Given the description of an element on the screen output the (x, y) to click on. 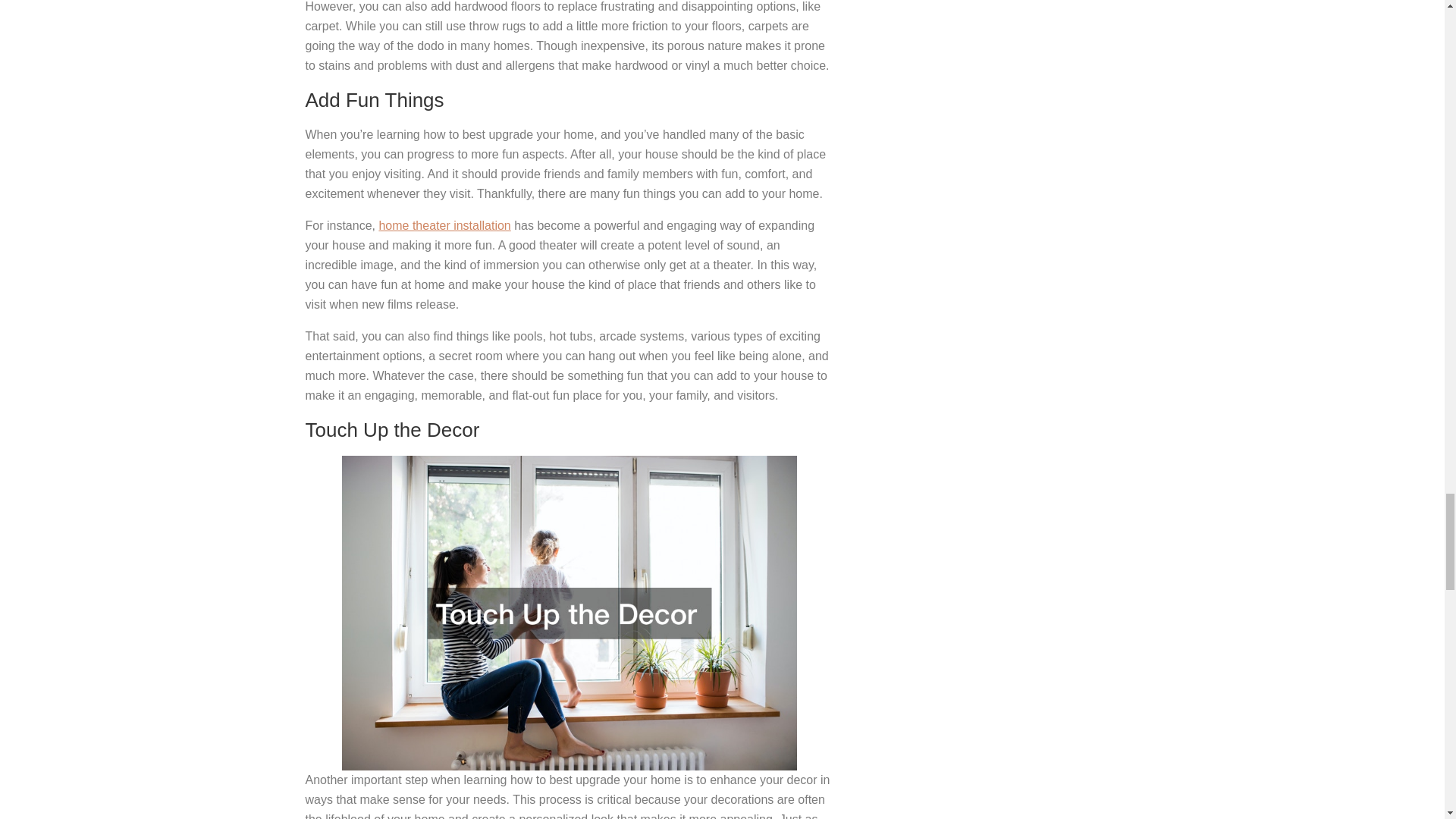
home theater installation (444, 225)
